Given the description of an element on the screen output the (x, y) to click on. 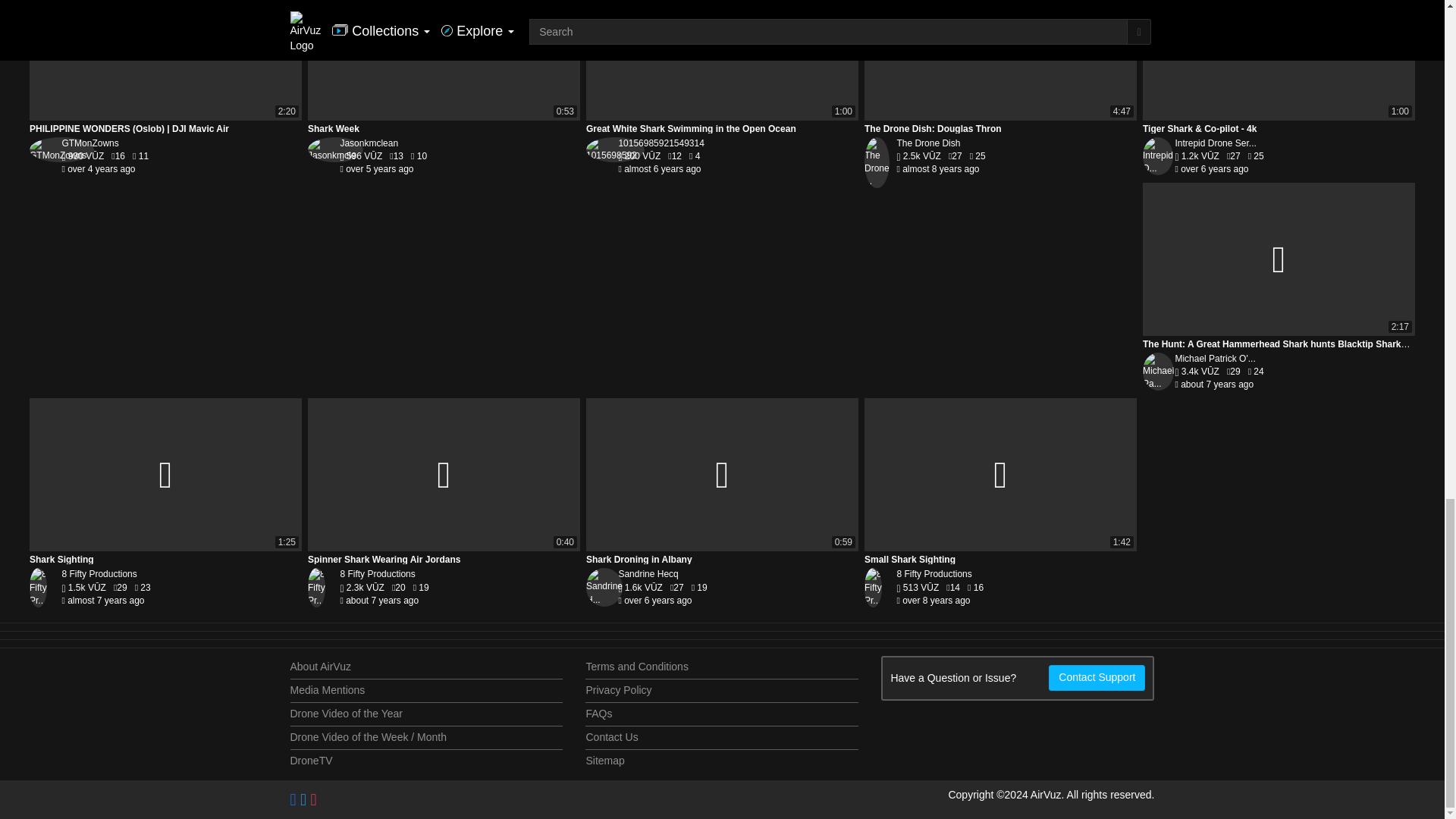
The Drone Dish: Douglas Thron (1000, 60)
10156985921549314 (660, 143)
Shark Week (443, 60)
Great White Shark Swimming in the Open Ocean (722, 60)
2:20 (165, 60)
The Drone Dish (927, 143)
GTMonZowns (89, 143)
Jasonkmclean (368, 143)
